Given the description of an element on the screen output the (x, y) to click on. 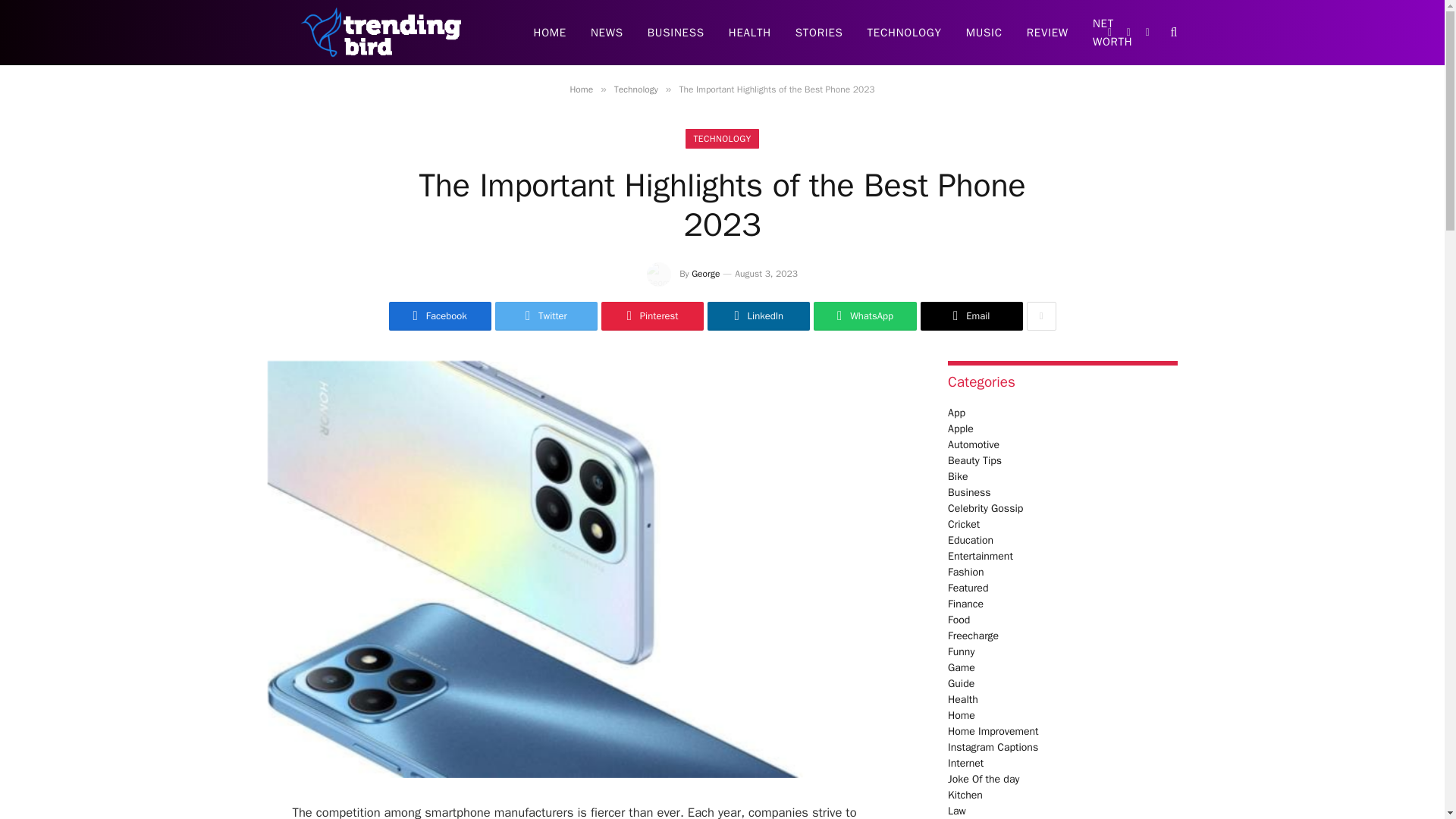
Facebook (439, 316)
REVIEW (1047, 32)
Share on Facebook (439, 316)
STORIES (819, 32)
Automotive (972, 444)
Twitter (545, 316)
Share on WhatsApp (864, 316)
WhatsApp (864, 316)
Share on Pinterest (652, 316)
Share on LinkedIn (758, 316)
App (956, 412)
Apple (960, 428)
Trendingbird (380, 32)
Show More Social Sharing (1041, 316)
NET WORTH (1112, 32)
